Given the description of an element on the screen output the (x, y) to click on. 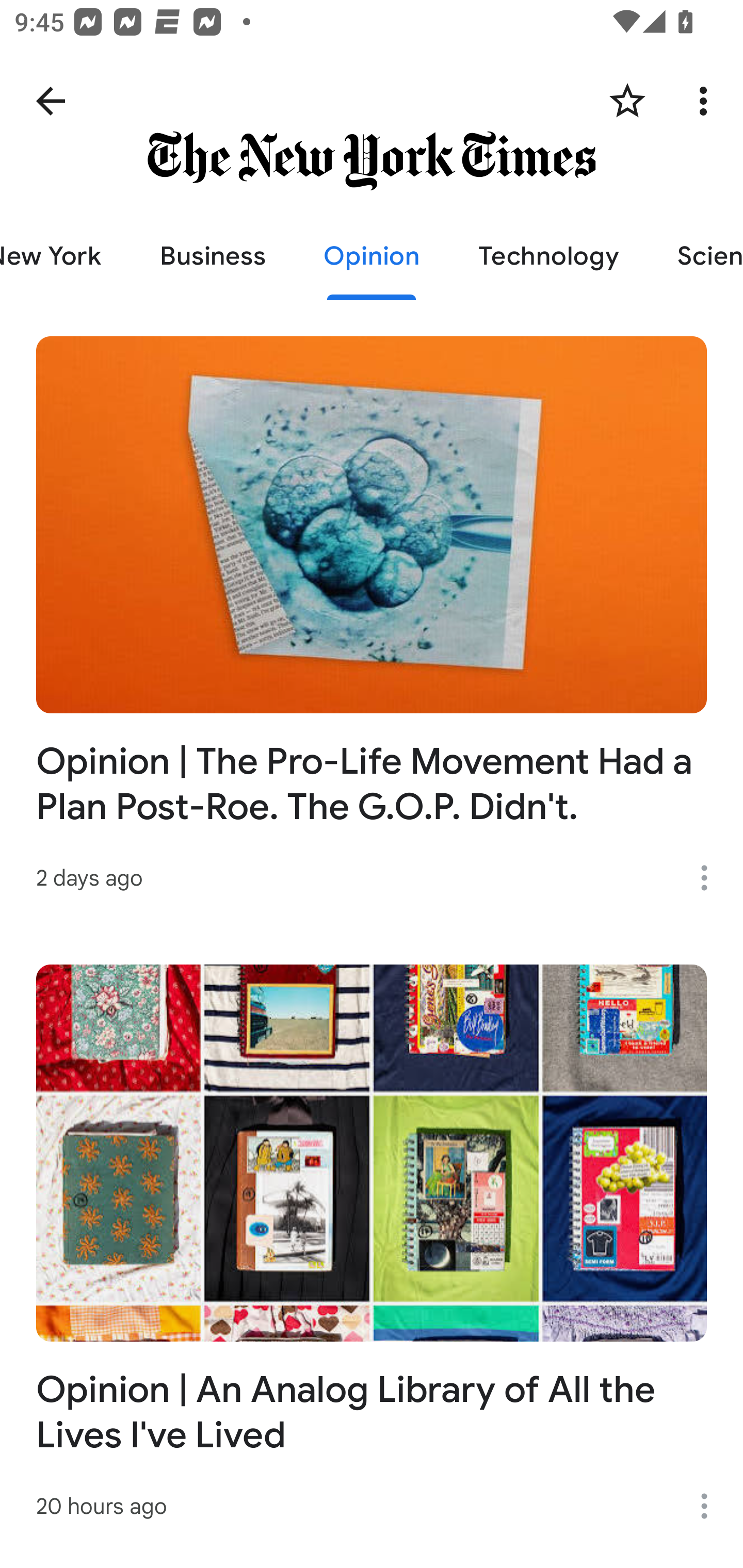
Navigate up (50, 101)
Follow (626, 101)
More options (706, 101)
New York (65, 256)
Business (212, 256)
Technology (547, 256)
Science (695, 256)
More options (711, 878)
More options (711, 1505)
